Given the description of an element on the screen output the (x, y) to click on. 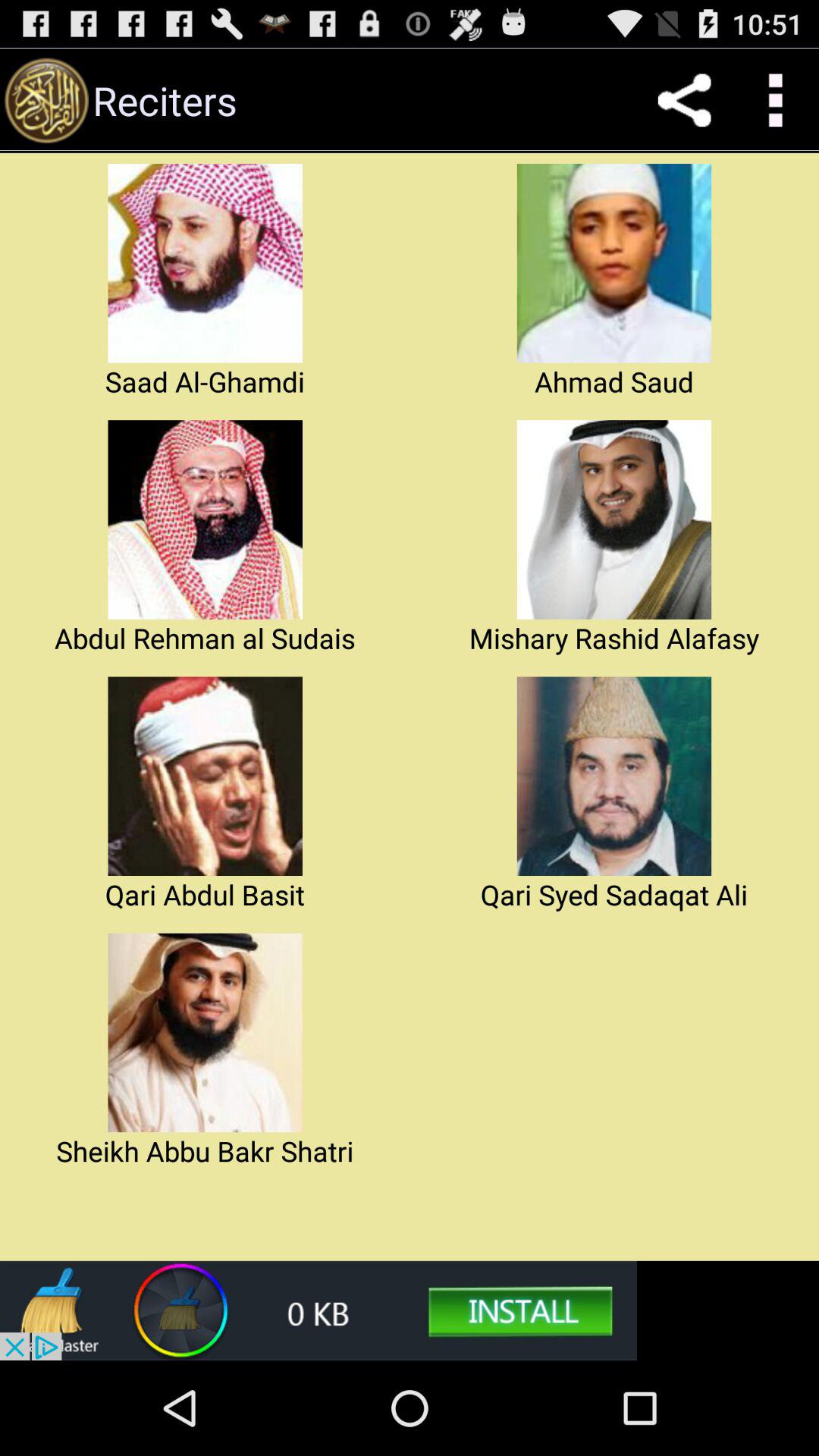
clean option (318, 1310)
